Given the description of an element on the screen output the (x, y) to click on. 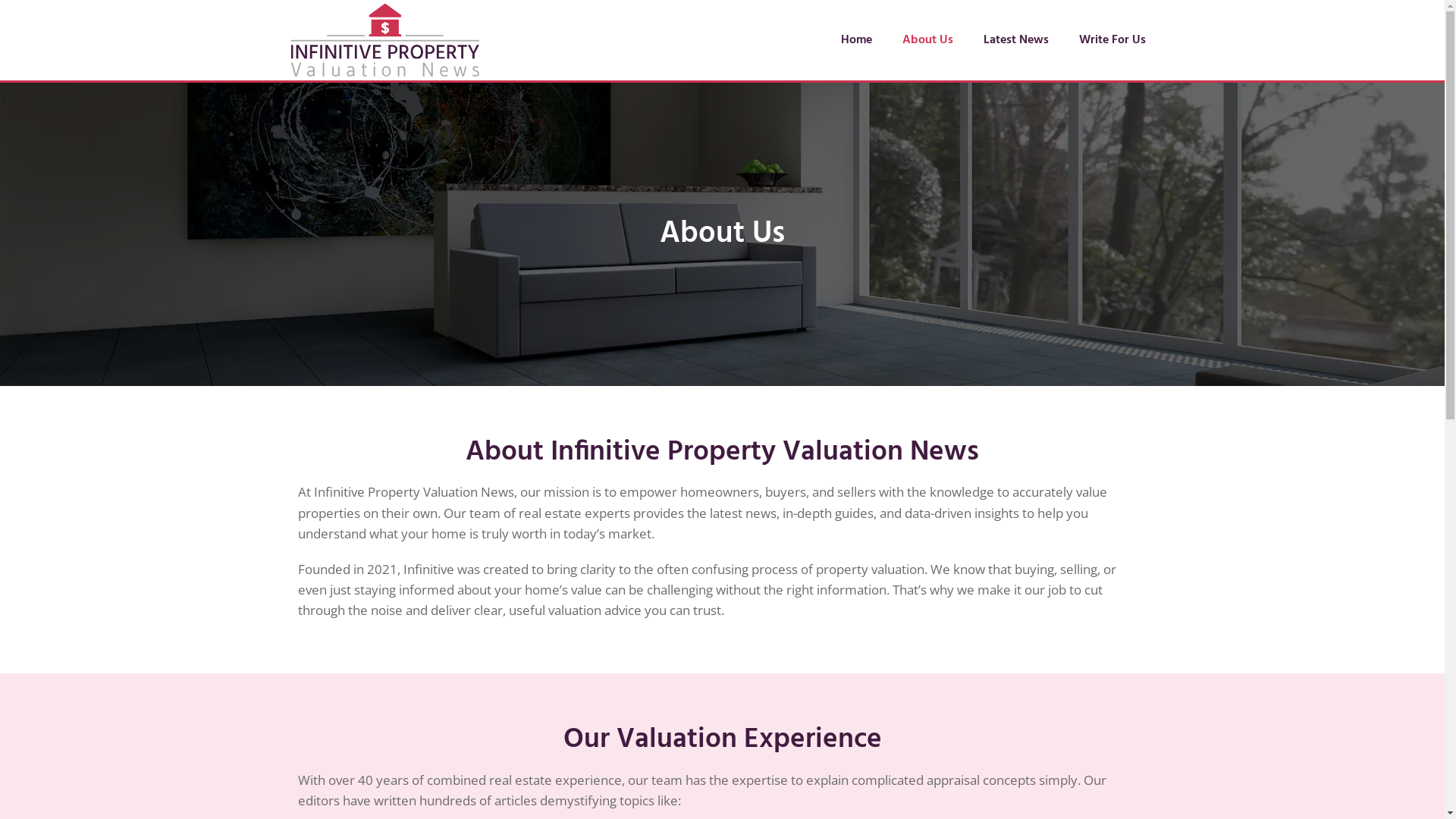
About Us Element type: text (927, 39)
Write For Us Element type: text (1112, 39)
Latest News Element type: text (1015, 39)
Home Element type: text (856, 39)
